Given the description of an element on the screen output the (x, y) to click on. 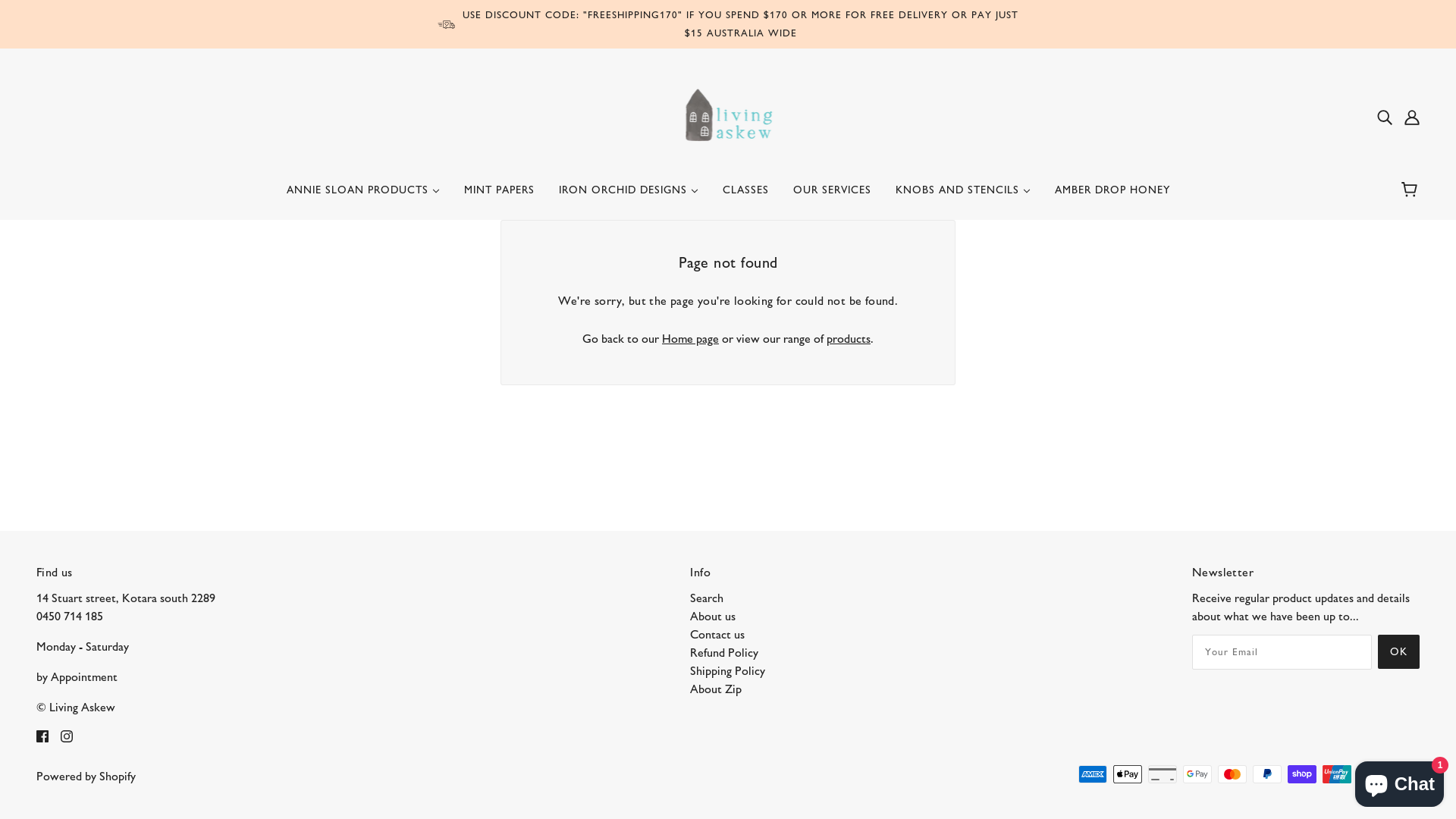
KNOBS AND STENCILS Element type: text (961, 195)
Shipping Policy Element type: text (727, 670)
Home page Element type: text (690, 338)
Powered by Shopify Element type: text (85, 775)
Shopify online store chat Element type: hover (1399, 780)
OUR SERVICES Element type: text (832, 195)
Refund Policy Element type: text (724, 652)
Contact us Element type: text (717, 634)
MINT PAPERS Element type: text (498, 195)
About Zip Element type: text (715, 688)
Living Askew Element type: hover (727, 115)
About us Element type: text (712, 615)
Search Element type: text (706, 597)
IRON ORCHID DESIGNS Element type: text (627, 195)
products Element type: text (848, 338)
OK Element type: text (1398, 651)
AMBER DROP HONEY Element type: text (1111, 195)
CLASSES Element type: text (744, 195)
ANNIE SLOAN PRODUCTS Element type: text (362, 195)
